Given the description of an element on the screen output the (x, y) to click on. 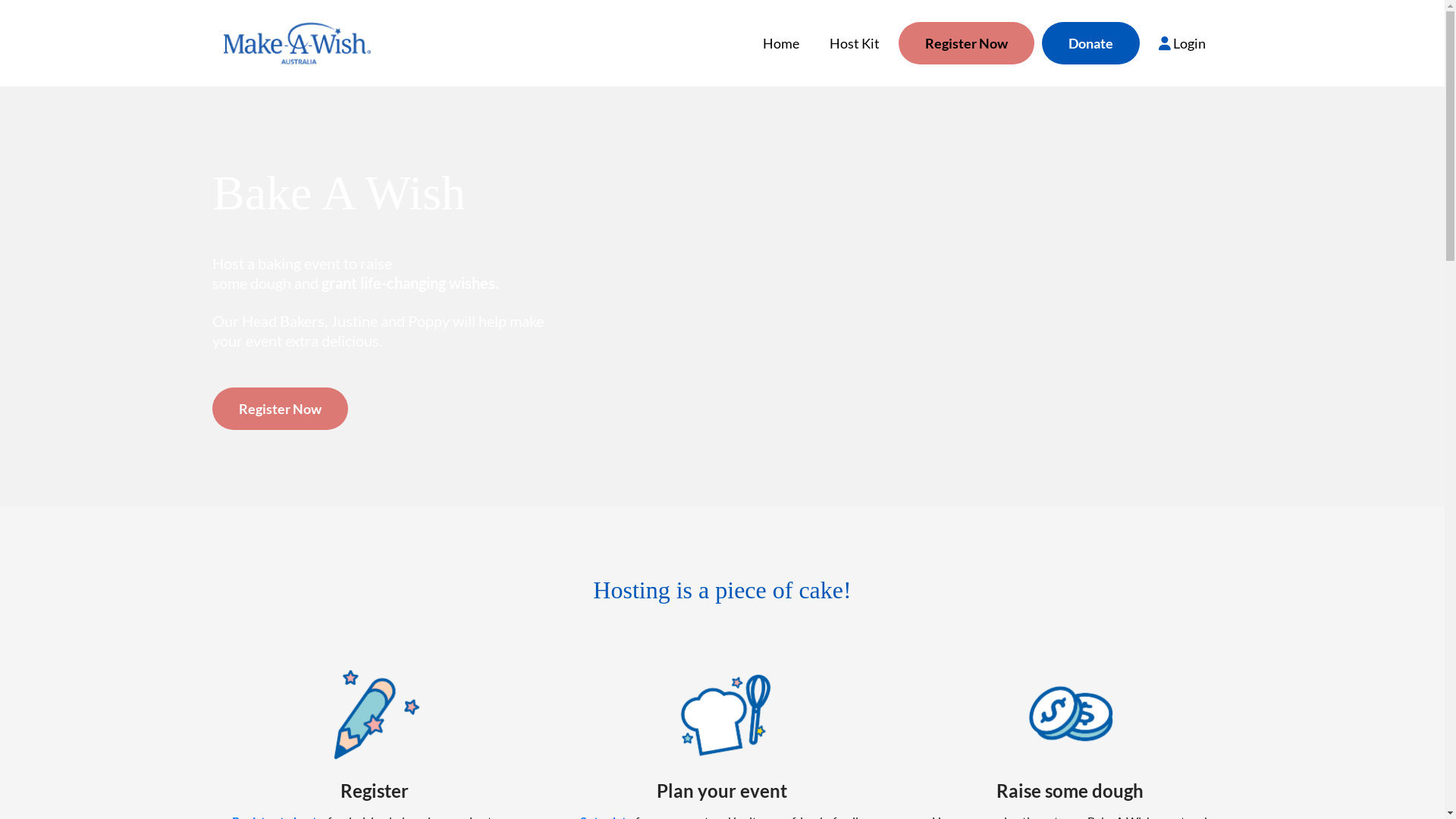
Register Now Element type: text (280, 408)
Home Element type: text (780, 43)
Host Kit Element type: text (854, 43)
Donate Element type: text (1090, 42)
Register Now Element type: text (966, 42)
Login Element type: text (1181, 42)
